Given the description of an element on the screen output the (x, y) to click on. 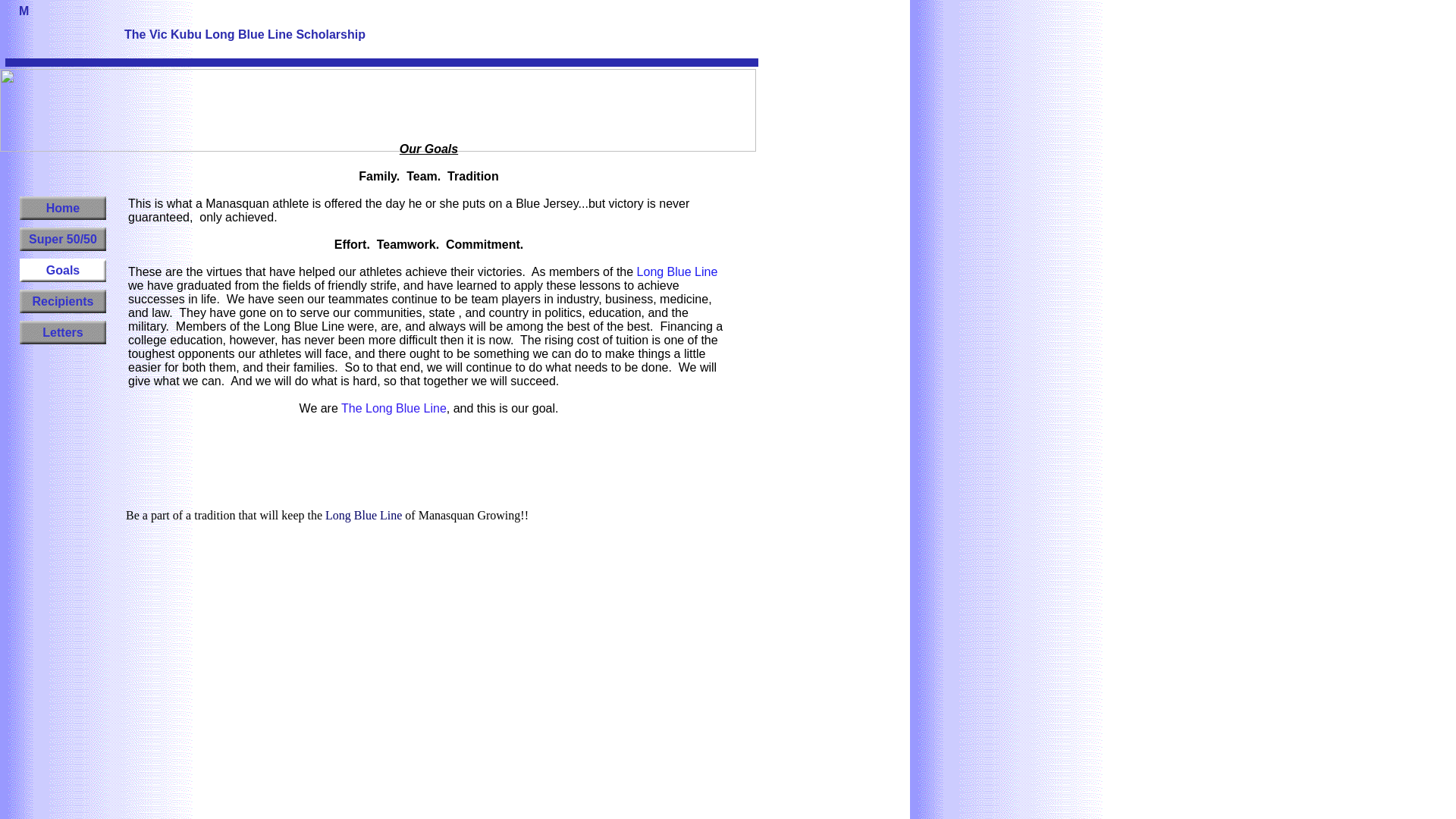
Goals (63, 269)
Home (63, 208)
Recipients (63, 300)
Letters (63, 332)
